Given the description of an element on the screen output the (x, y) to click on. 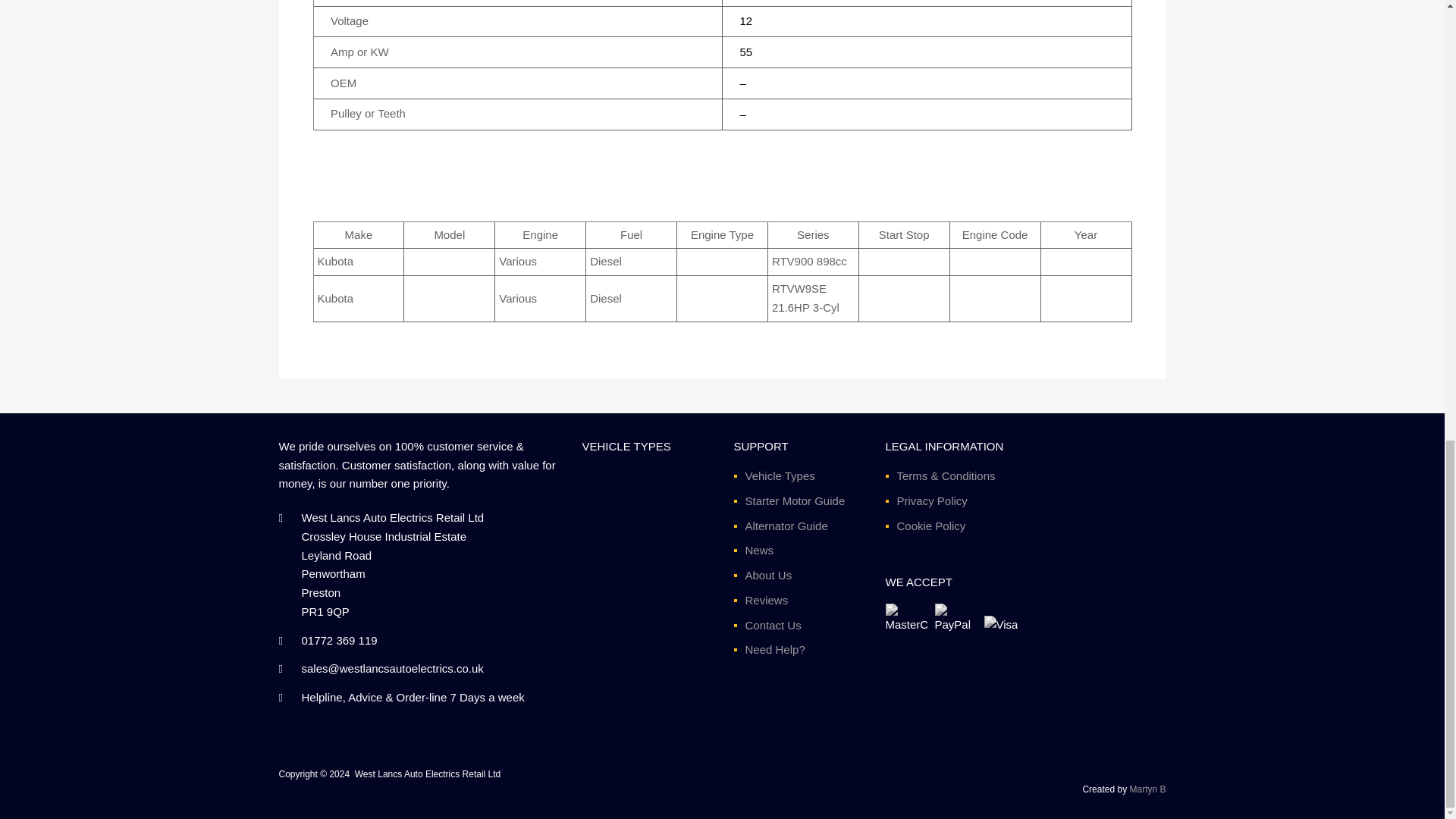
55 (745, 51)
12 (745, 20)
Starter Motor Guide (794, 500)
News (758, 549)
Alternator Guide (785, 525)
Vehicle Types (778, 475)
Email us (392, 667)
